Given the description of an element on the screen output the (x, y) to click on. 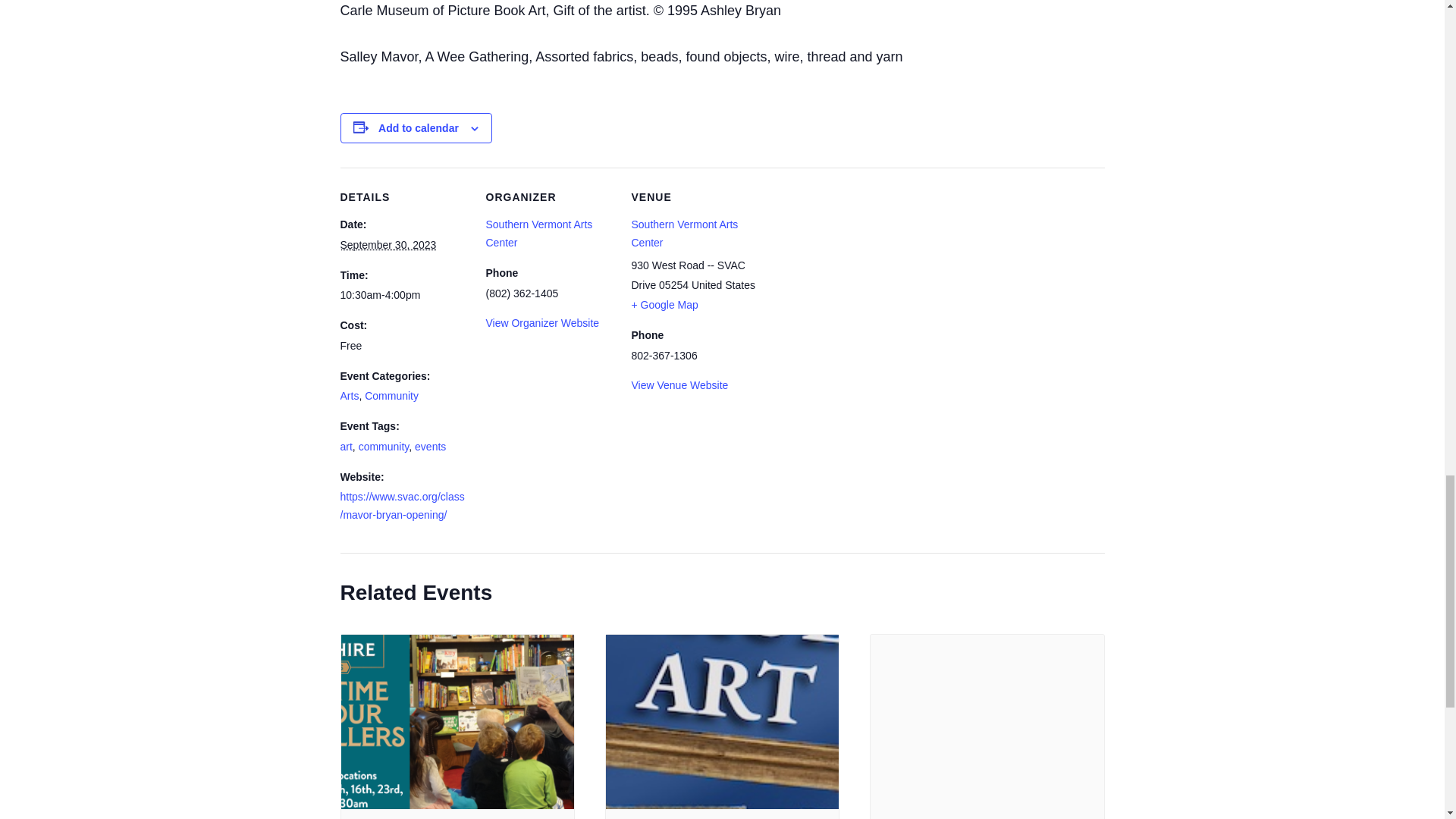
2023-09-30 (387, 244)
Click to view a Google Map (663, 304)
Southern Vermont Arts Center (538, 233)
2023-09-30 (403, 295)
